Given the description of an element on the screen output the (x, y) to click on. 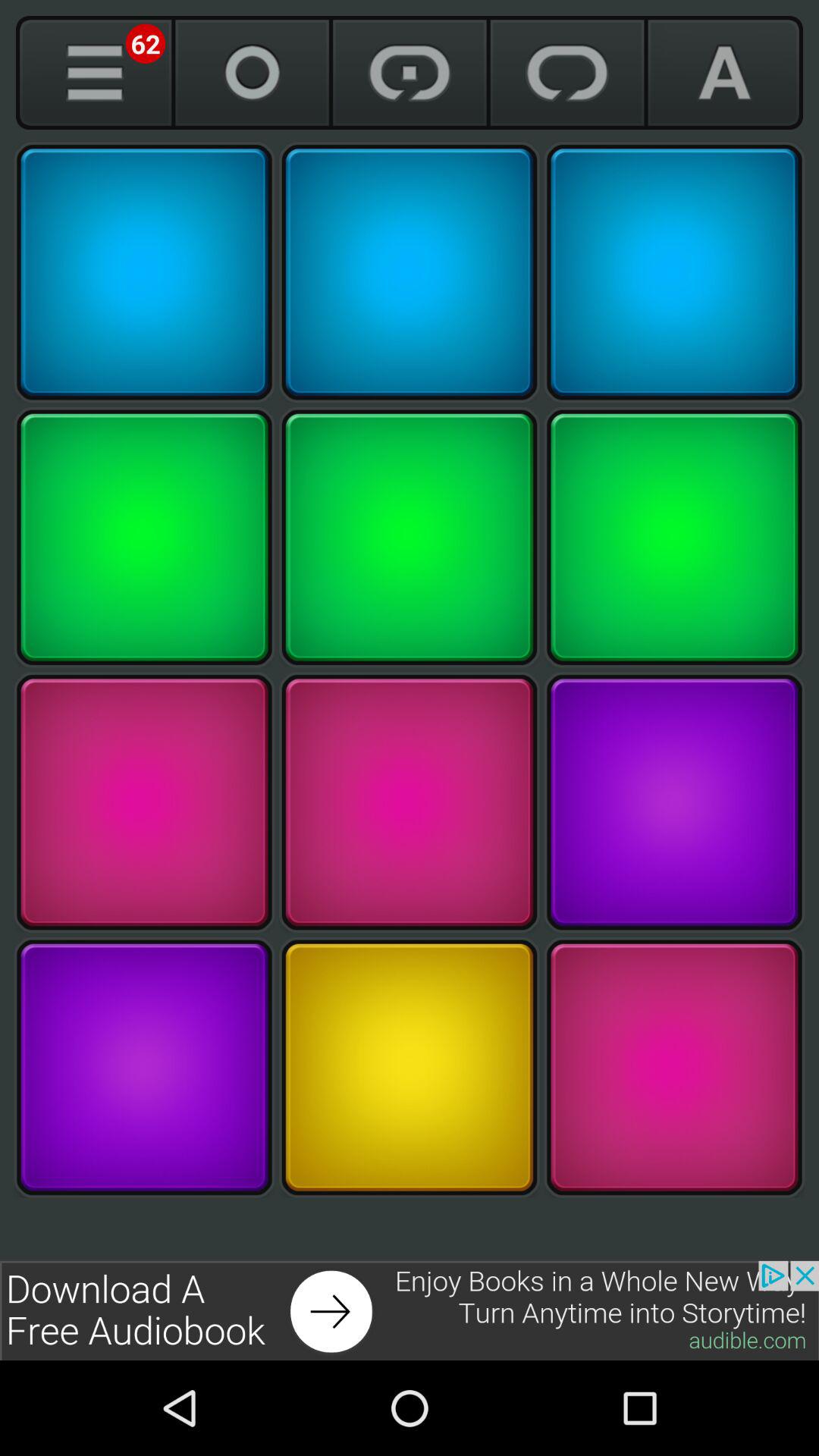
click the info (94, 72)
